Given the description of an element on the screen output the (x, y) to click on. 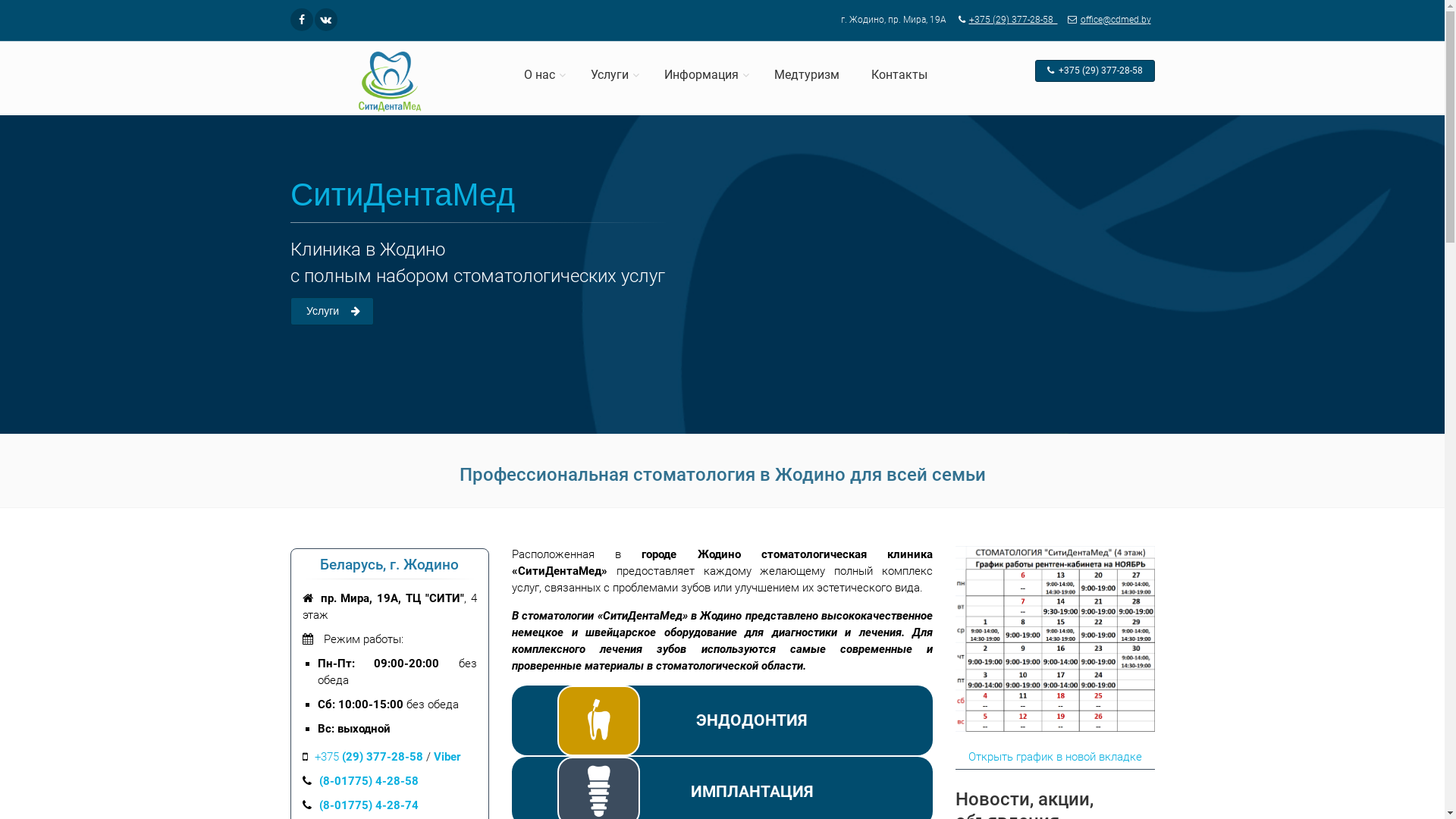
+375 (29) 377-28-58   Element type: text (1013, 19)
Viber Element type: text (446, 756)
(8-01775) 4-28-74 Element type: text (367, 805)
(8-01775) 4-28-58 Element type: text (367, 780)
  +375 (29) 377-28-58 Element type: text (1094, 70)
+375 (29) 377-28-58 Element type: text (367, 756)
office@cdmed.by Element type: text (1105, 19)
